Given the description of an element on the screen output the (x, y) to click on. 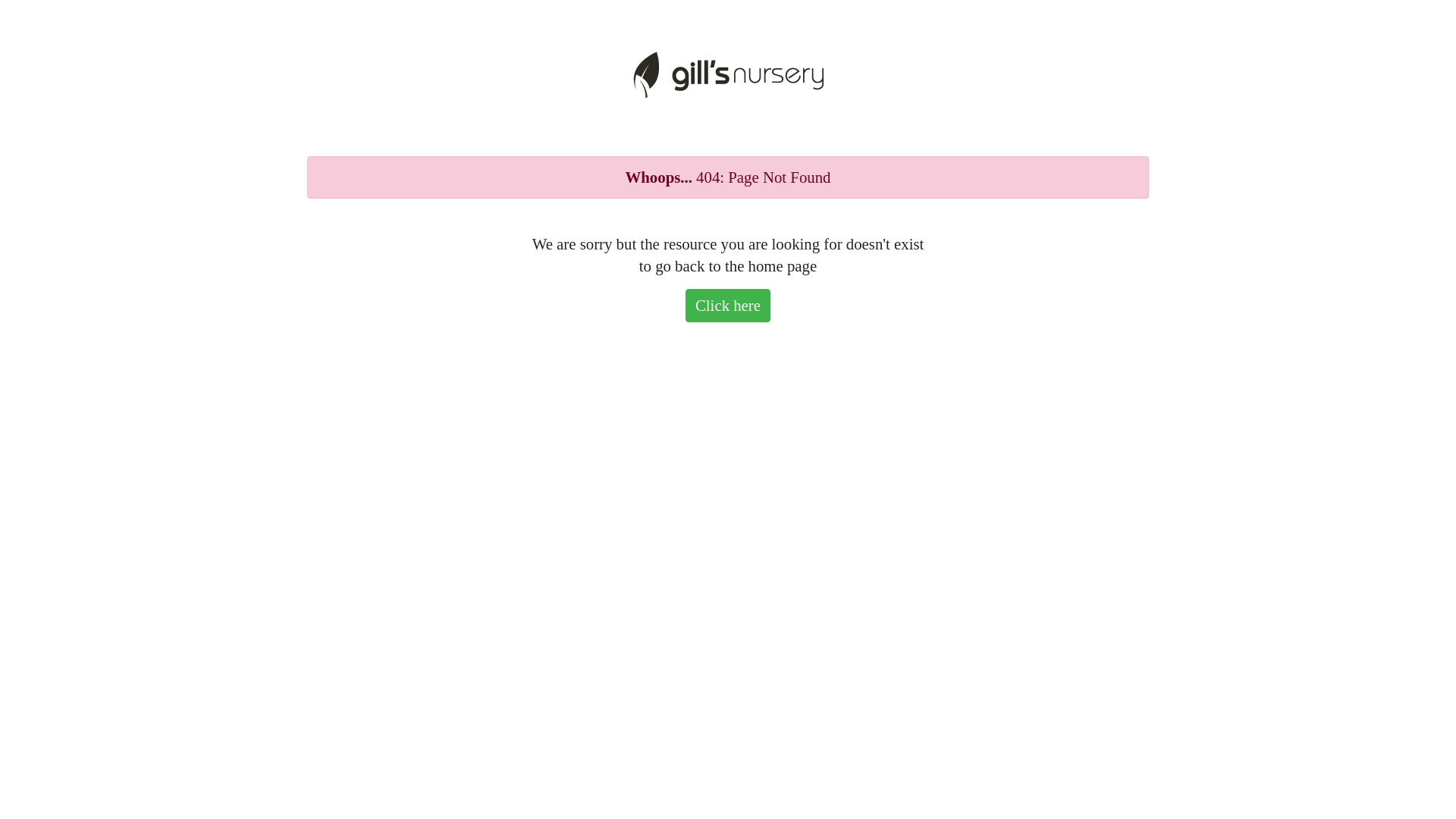
Click here Element type: text (727, 305)
